Given the description of an element on the screen output the (x, y) to click on. 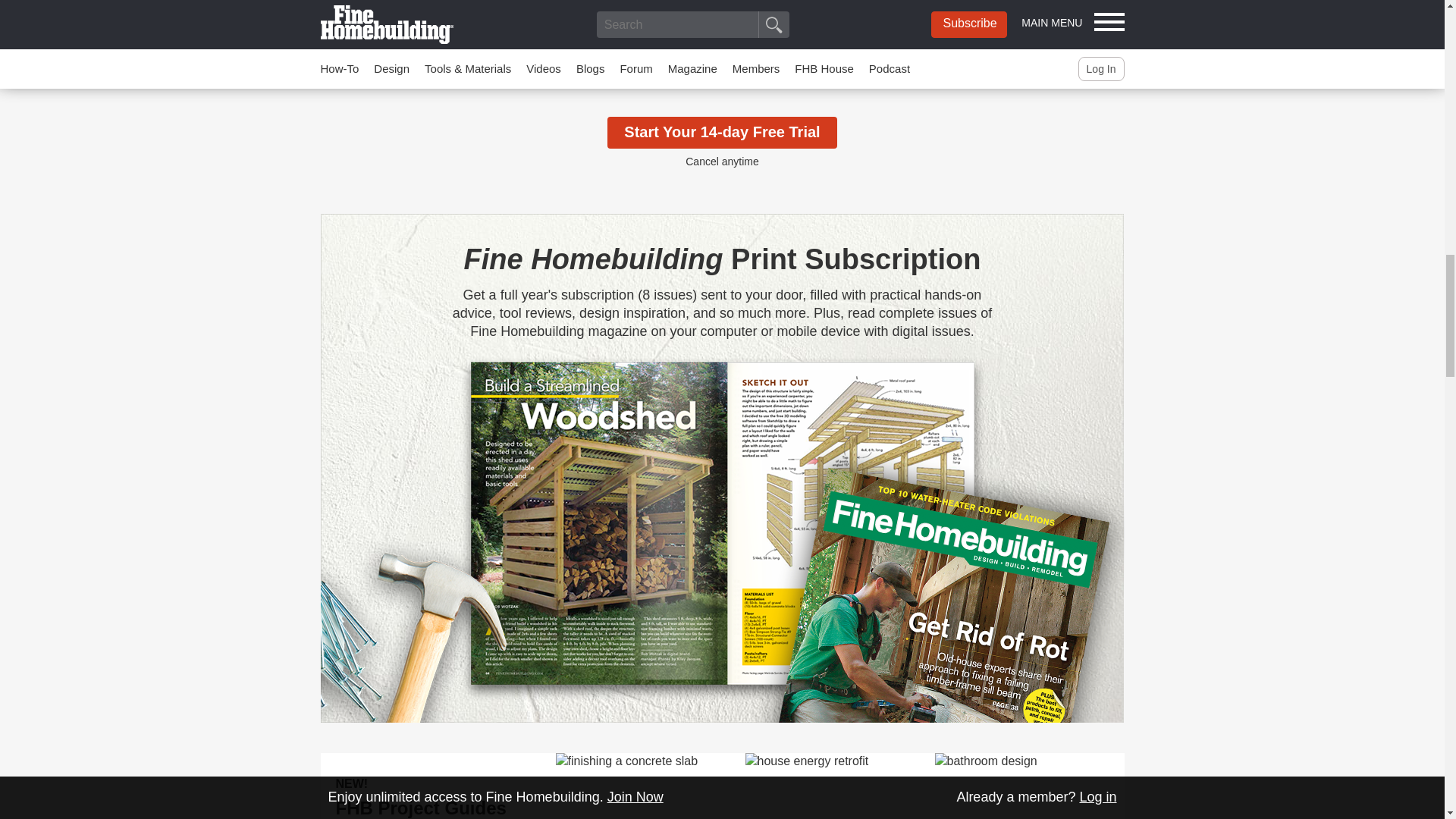
Energy Retrofit (839, 785)
Start Your 14-day Free Trial (721, 132)
Foundations and Masonry Work (649, 785)
Fine Homebuilding Print Subscription (722, 259)
